Given the description of an element on the screen output the (x, y) to click on. 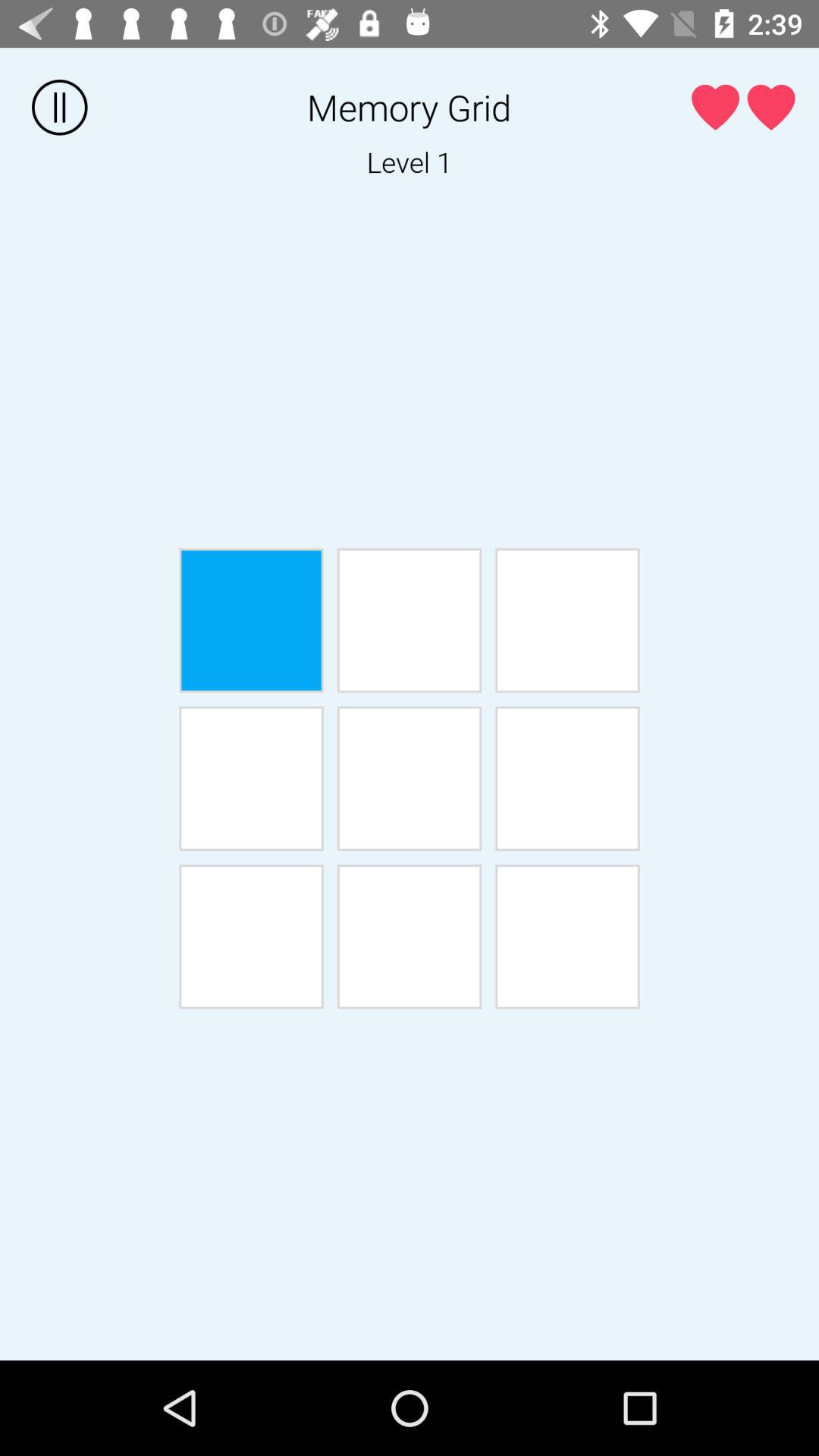
select last box on upper row (567, 620)
